Given the description of an element on the screen output the (x, y) to click on. 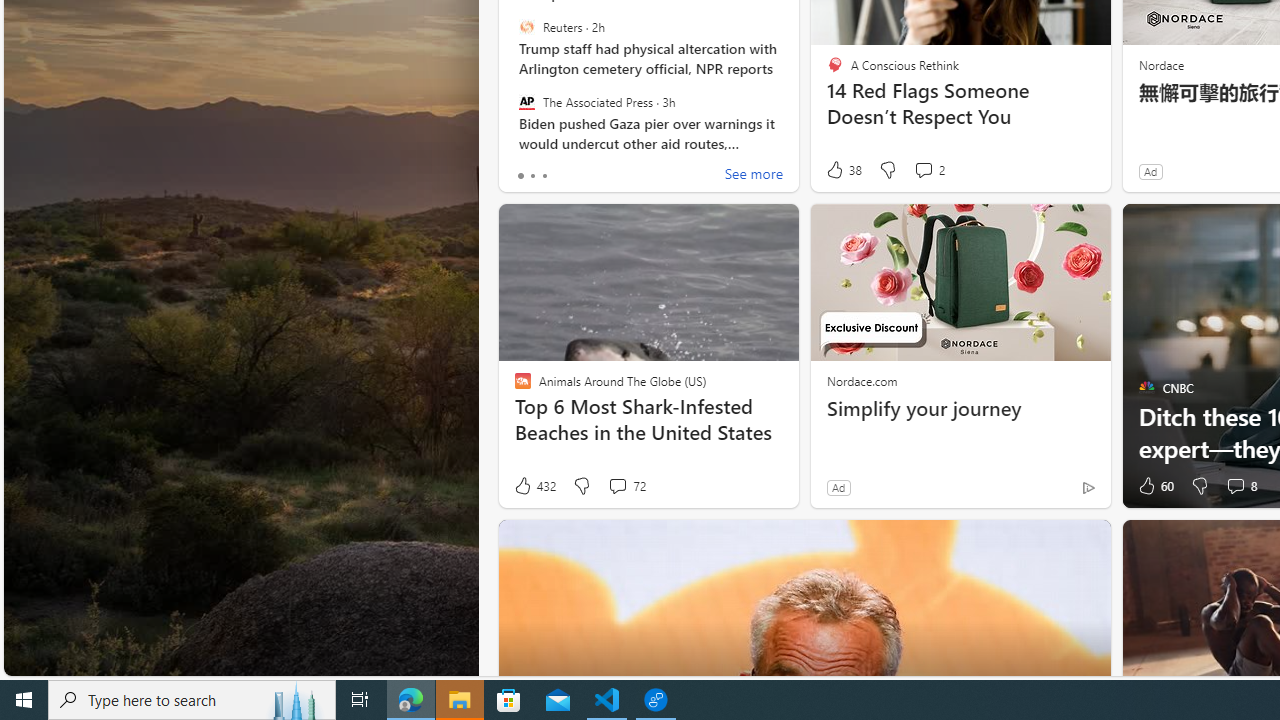
View comments 2 Comment (923, 169)
tab-2 (543, 175)
View comments 2 Comment (928, 170)
View comments 72 Comment (626, 485)
432 Like (534, 485)
Nordace.com (861, 380)
60 Like (1154, 485)
Reuters (526, 27)
38 Like (843, 170)
